Given the description of an element on the screen output the (x, y) to click on. 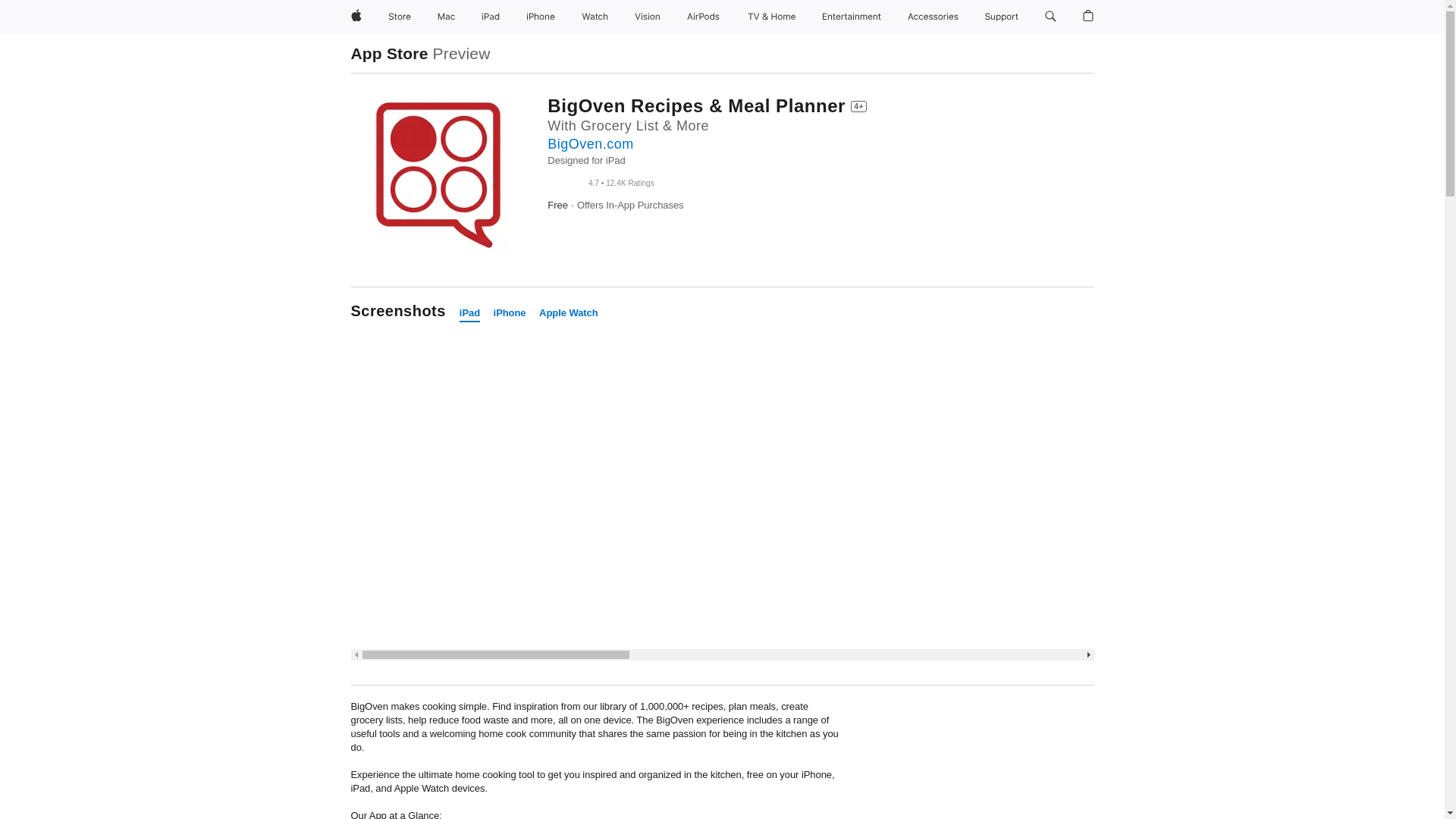
Apple Watch (568, 313)
AirPods (703, 16)
Vision (647, 16)
iPhone (539, 16)
Entertainment (851, 16)
Store (398, 16)
Watch (594, 16)
iPhone (509, 313)
Support (1001, 16)
iPad (470, 313)
BigOven.com (590, 143)
App Store (389, 53)
iPad (490, 16)
Accessories (932, 16)
